Given the description of an element on the screen output the (x, y) to click on. 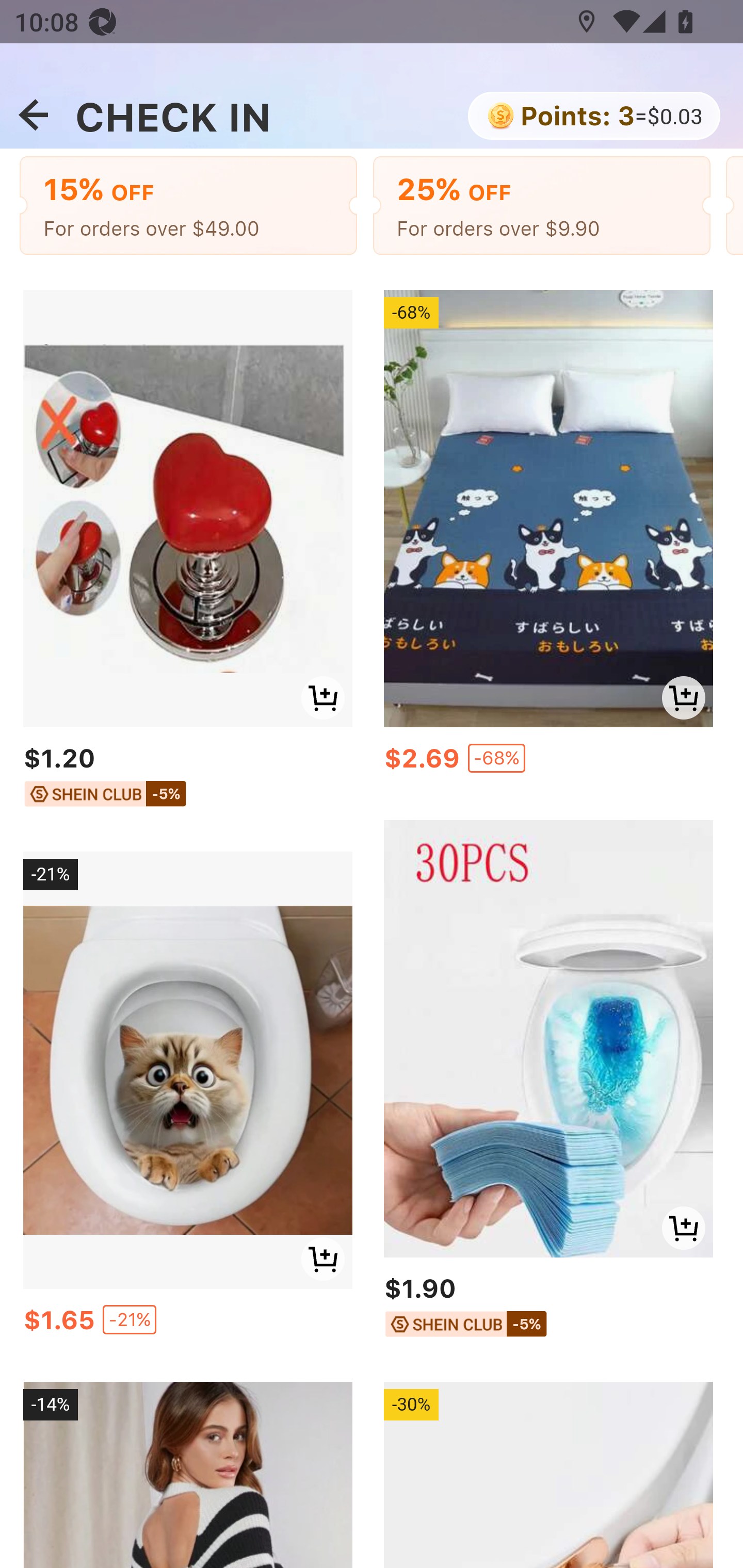
 (33, 115)
Points: 3=$0.03 (592, 117)
$1.20 sui_icon_paidmember_Label@3x-91f33d47f8 -5% (187, 780)
$2.69 -68% (548, 763)
$1.90 sui_icon_paidmember_Label@3x-91f33d47f8 -5% (548, 1308)
$1.65 -21% (187, 1324)
